Given the description of an element on the screen output the (x, y) to click on. 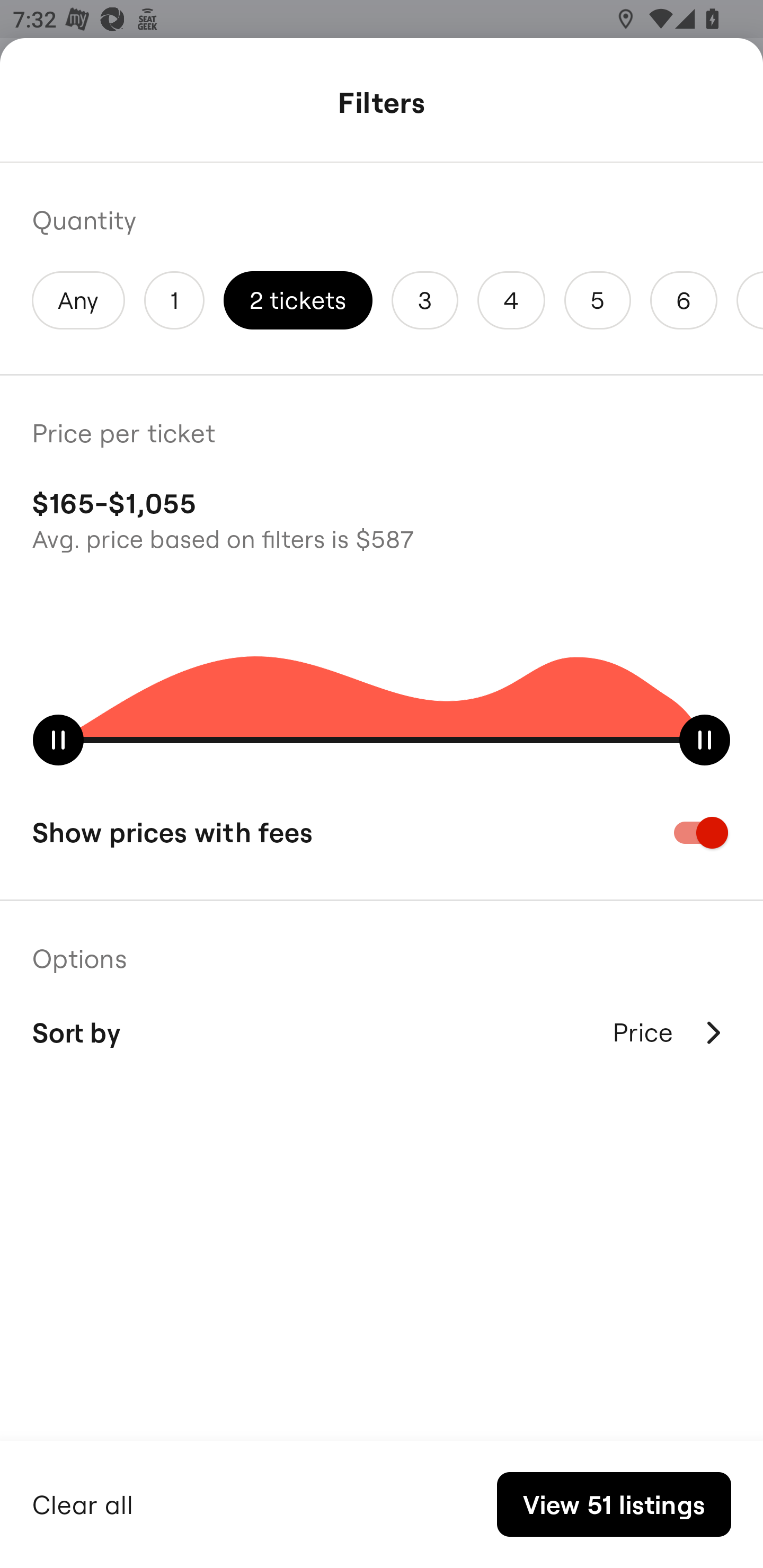
Back Hamilton - New York Thu, Mar 21, 7 PM Info (381, 104)
Any (78, 300)
1 (173, 300)
2 tickets (297, 300)
3 (424, 300)
4 (511, 300)
5 (597, 300)
6 (684, 300)
$165-$1,055 Avg. price based on filters is $587 (381, 518)
Show prices with fees (381, 832)
Sort by Price (381, 1032)
Clear all (83, 1502)
View 51 listings (613, 1504)
